Given the description of an element on the screen output the (x, y) to click on. 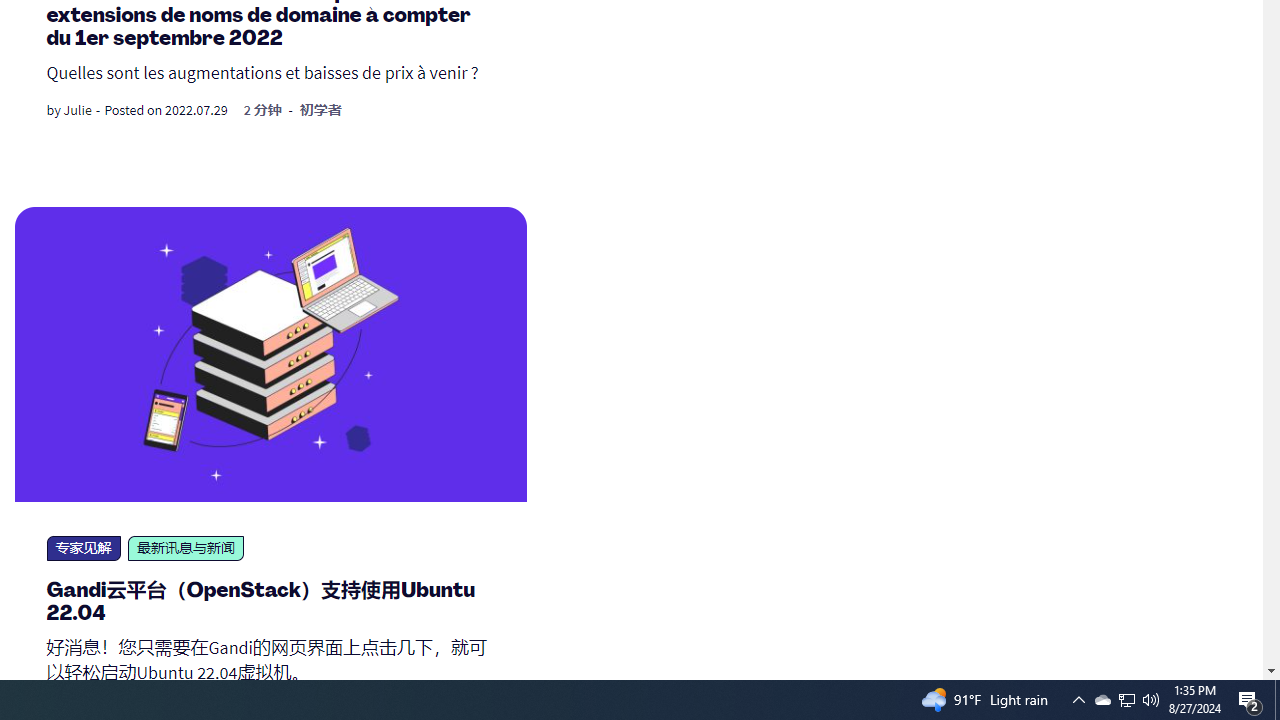
Julie (77, 110)
